Given the description of an element on the screen output the (x, y) to click on. 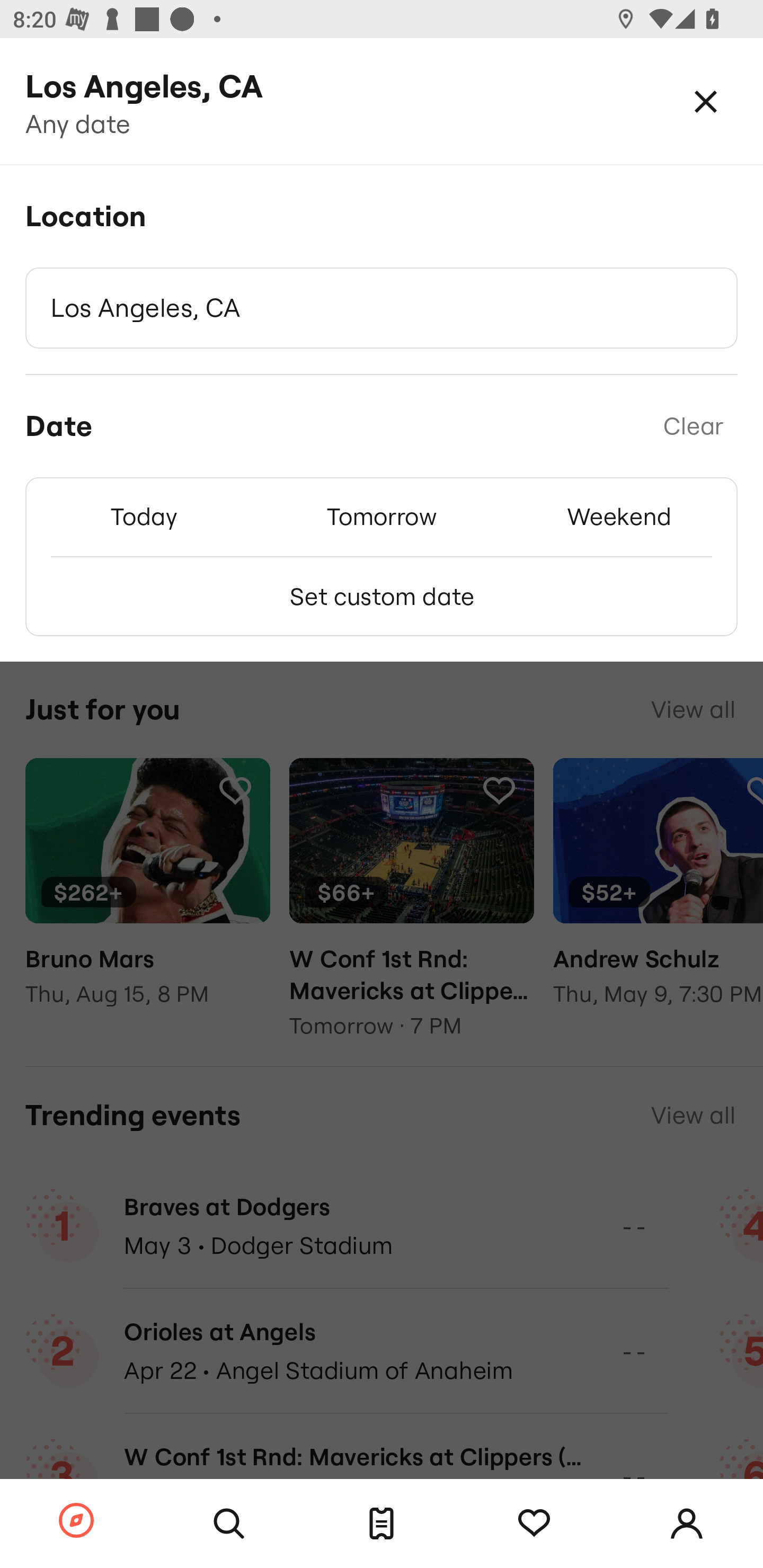
Close (705, 100)
Los Angeles, CA (381, 308)
Clear (693, 426)
Today (143, 516)
Tomorrow (381, 516)
Weekend (618, 516)
Set custom date (381, 596)
Browse (76, 1521)
Search (228, 1523)
Tickets (381, 1523)
Tracking (533, 1523)
Account (686, 1523)
